Given the description of an element on the screen output the (x, y) to click on. 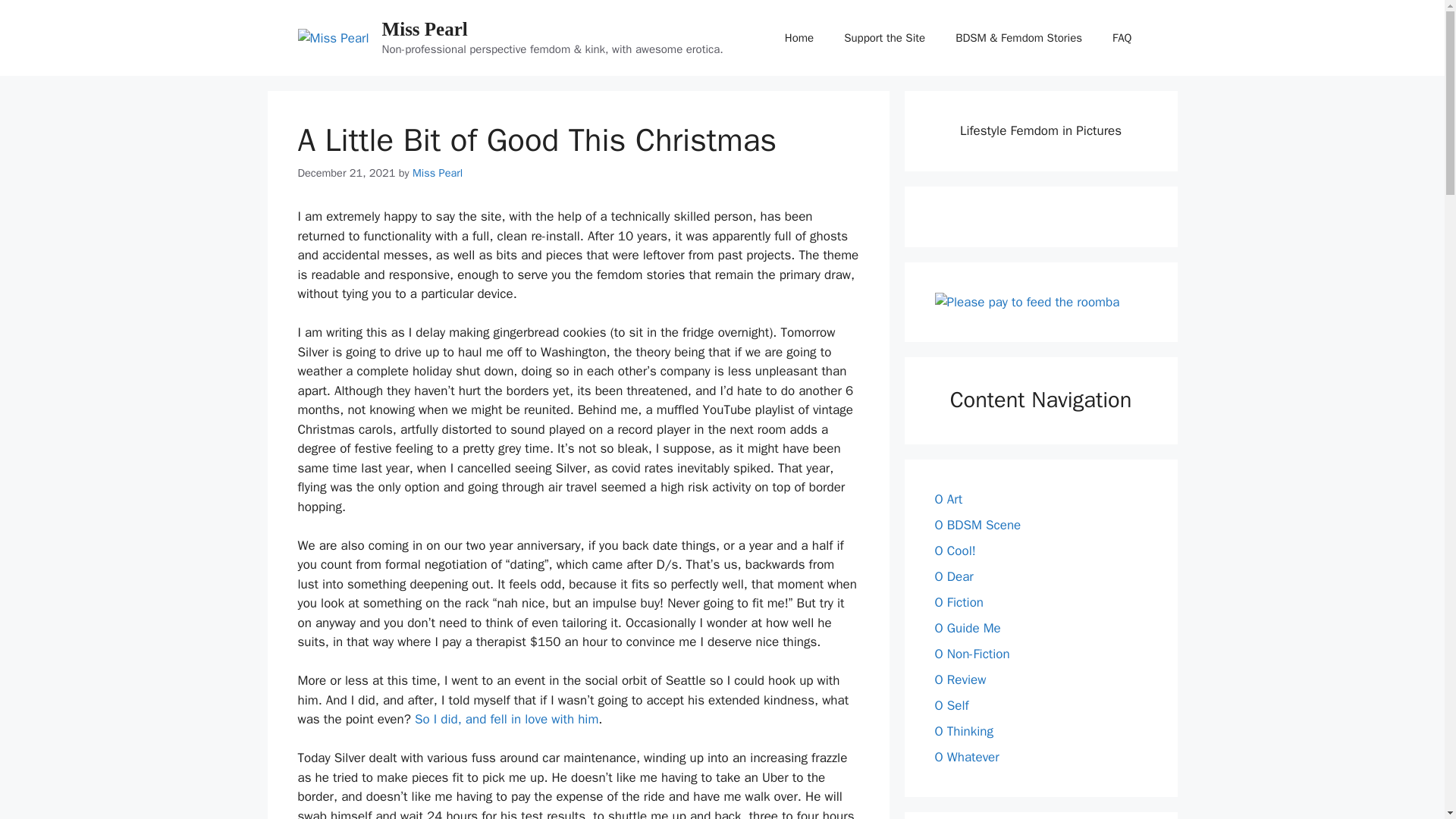
So I did, and fell in love with him (506, 719)
Miss Pearl (424, 28)
Home (799, 37)
O BDSM Scene (977, 524)
Support the Site (884, 37)
Miss Pearl (437, 172)
FAQ (1122, 37)
O Art (948, 498)
View all posts by Miss Pearl (437, 172)
